Given the description of an element on the screen output the (x, y) to click on. 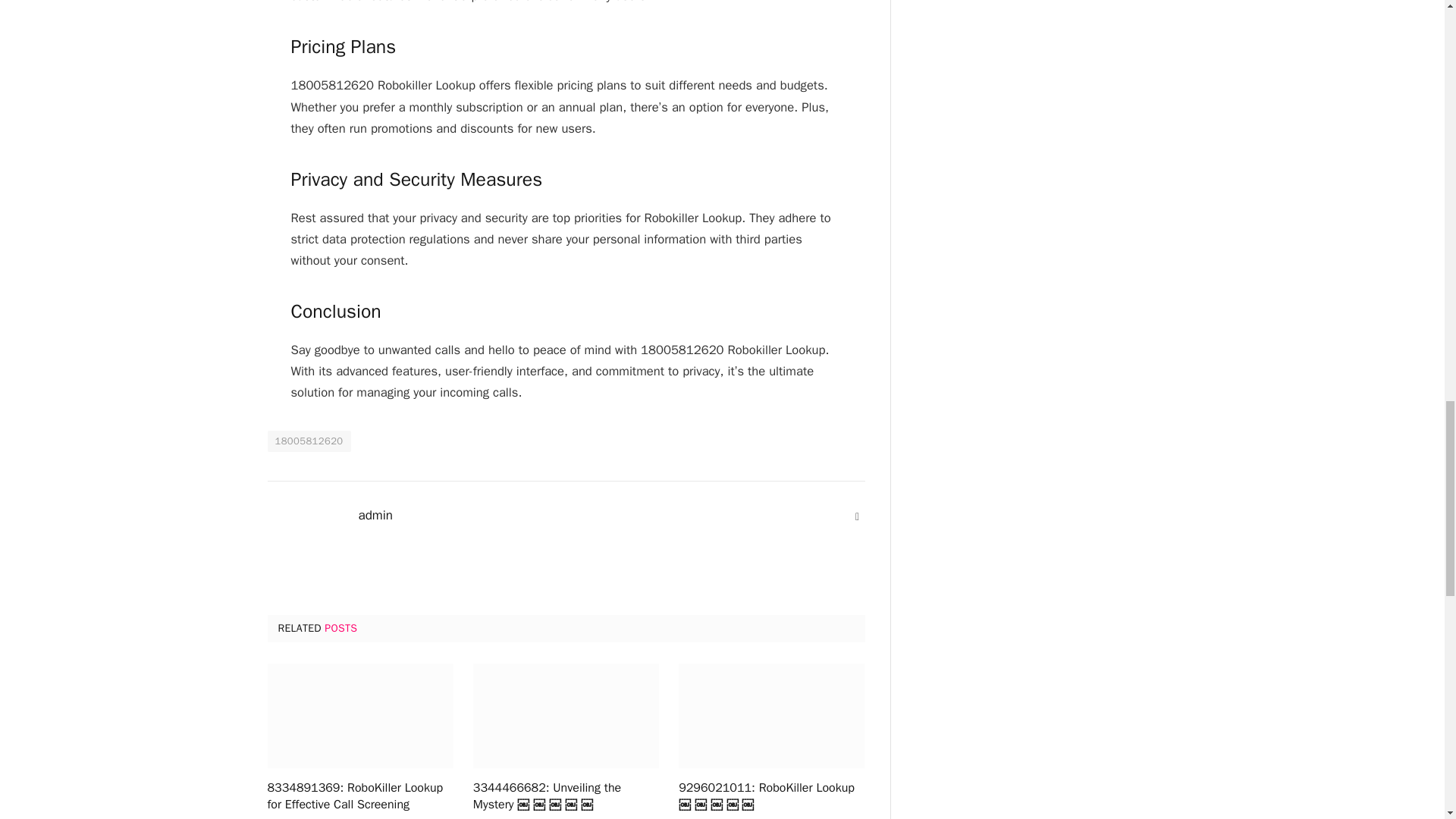
8334891369: RoboKiller Lookup for Effective Call Screening (359, 715)
Posts by admin (375, 515)
8334891369: RoboKiller Lookup for Effective Call Screening (359, 797)
admin (375, 515)
Website (856, 516)
18005812620 (308, 441)
Website (856, 516)
